Given the description of an element on the screen output the (x, y) to click on. 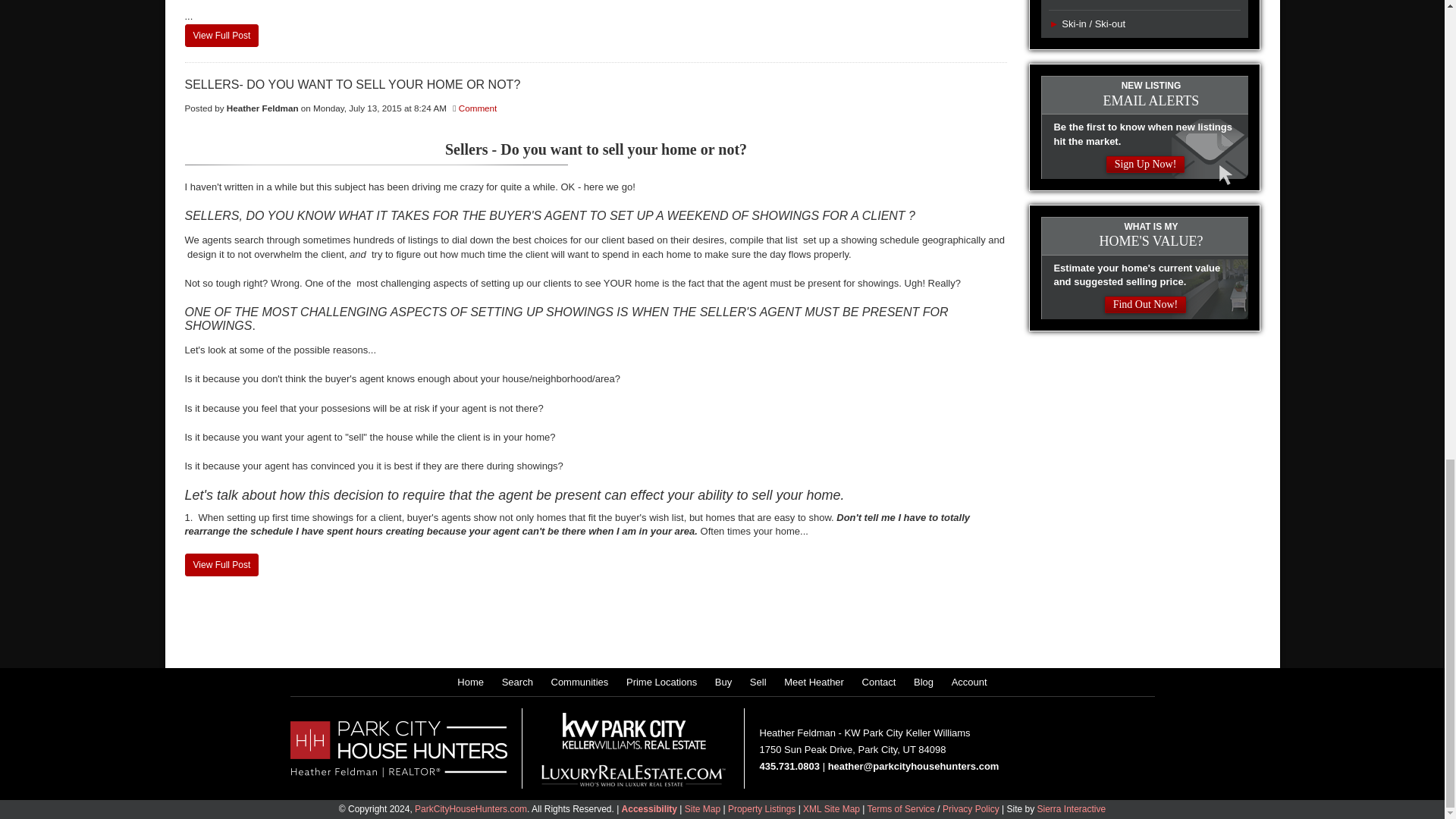
There is only one Park City Mountain (221, 35)
Sellers- Do you want to sell your home or not? (595, 84)
Sellers- Do you want to sell your home or not? (221, 564)
